Given the description of an element on the screen output the (x, y) to click on. 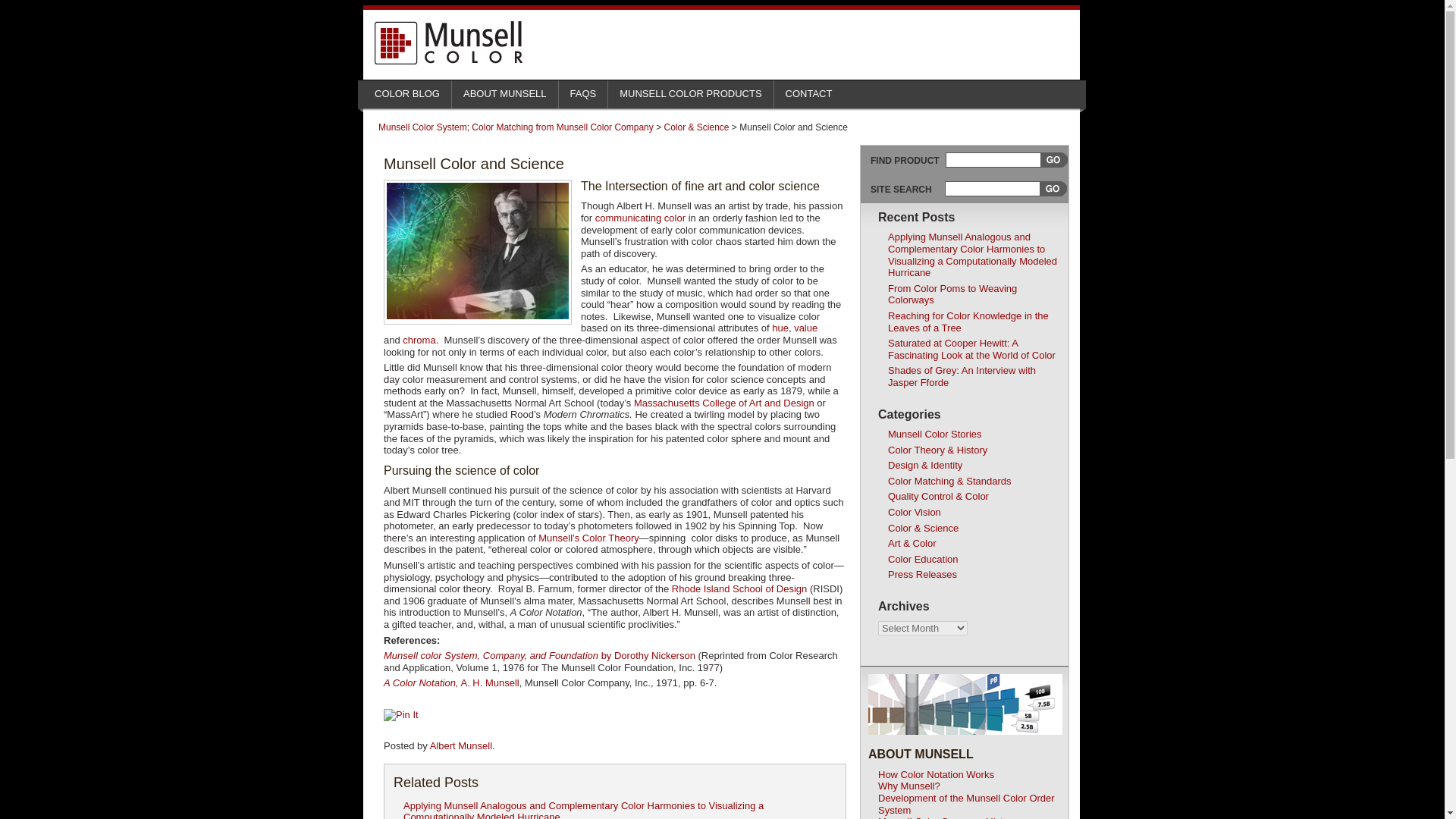
value (804, 327)
From Color Poms to Weaving Colorways (952, 294)
View all posts filed under Munsell Color Stories (934, 433)
Shades of Grey: An Interview with Jasper Fforde (961, 376)
MUNSELL COLOR PRODUCTS (690, 90)
Albert Munsell (460, 745)
Massachusetts College of Art and Design (723, 402)
